Given the description of an element on the screen output the (x, y) to click on. 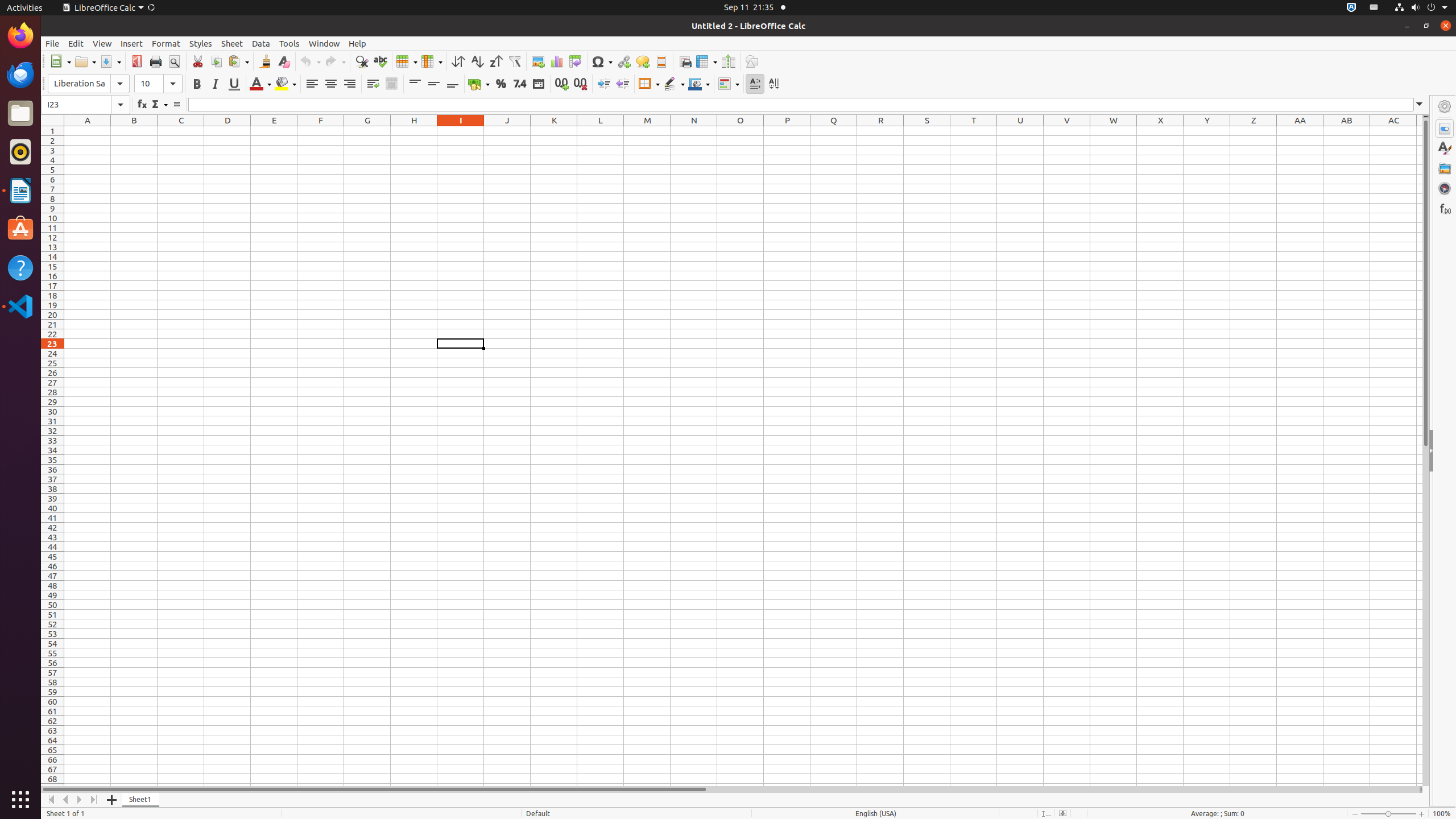
Column Element type: push-button (431, 61)
Font Size Element type: combo-box (158, 83)
Untitled 2 - LibreOffice Spreadsheets Element type: document-spreadsheet (743, 456)
Draw Functions Element type: toggle-button (751, 61)
